Given the description of an element on the screen output the (x, y) to click on. 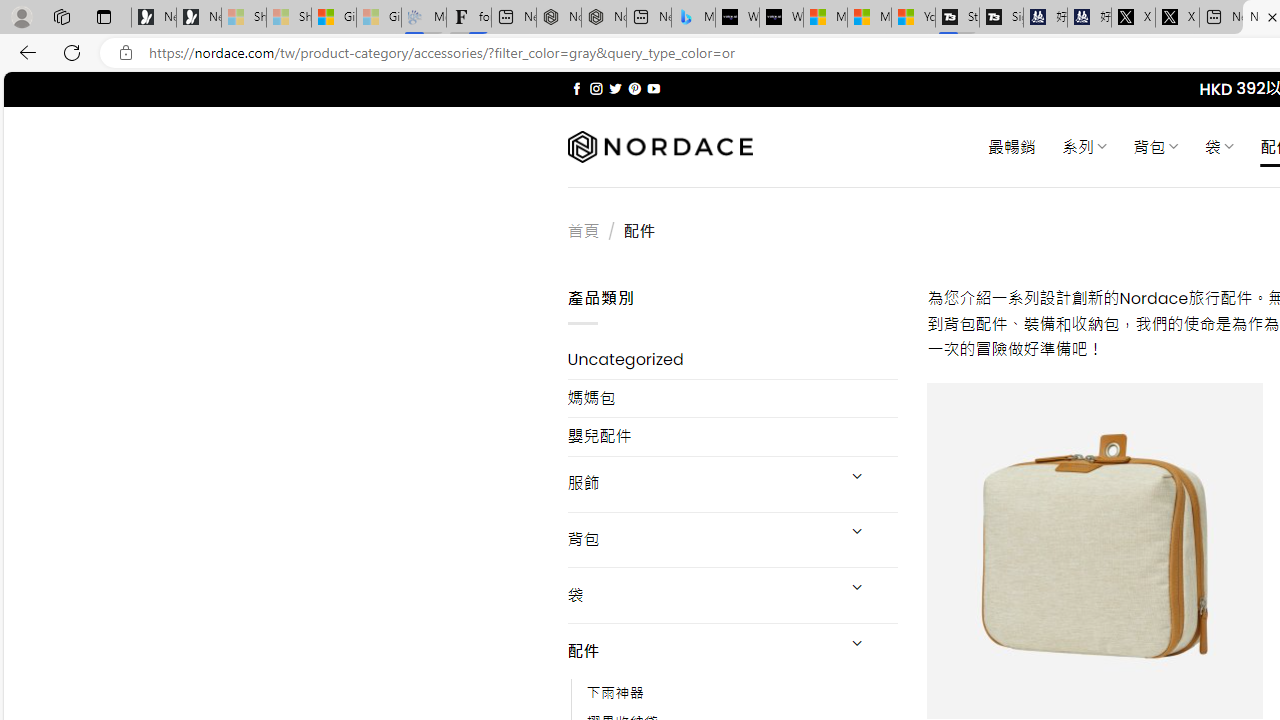
X (1177, 17)
Uncategorized (732, 359)
